Given the description of an element on the screen output the (x, y) to click on. 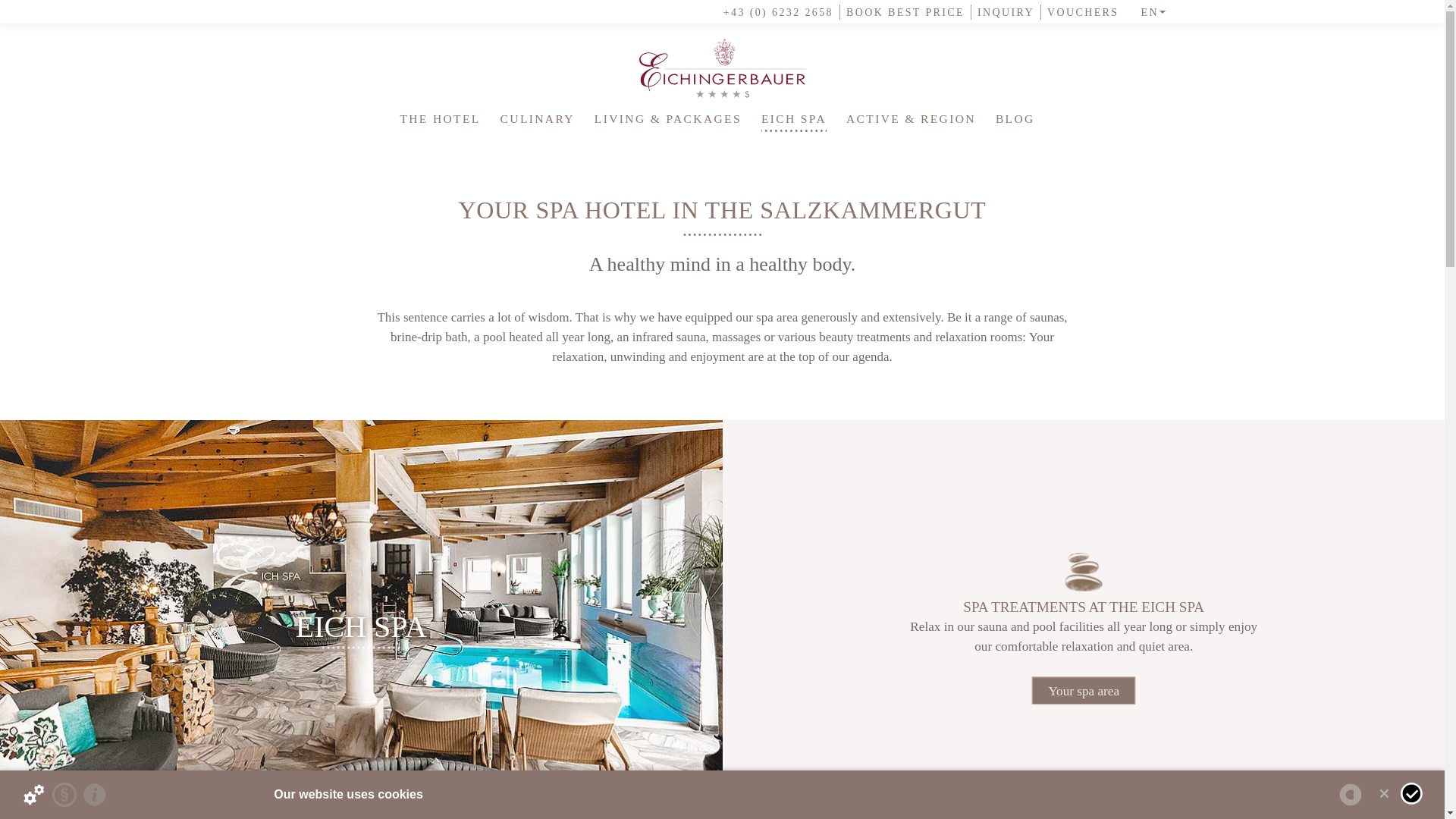
INQUIRY (1002, 11)
Only allow required cookies (1383, 793)
Details about cookies ... (33, 794)
Imprint (94, 794)
VOUCHERS (1080, 11)
THE HOTEL (439, 118)
powered by Datareporter (1350, 794)
BOOK BEST PRICE (901, 11)
EN (1148, 11)
Privacy statement... (64, 794)
